Given the description of an element on the screen output the (x, y) to click on. 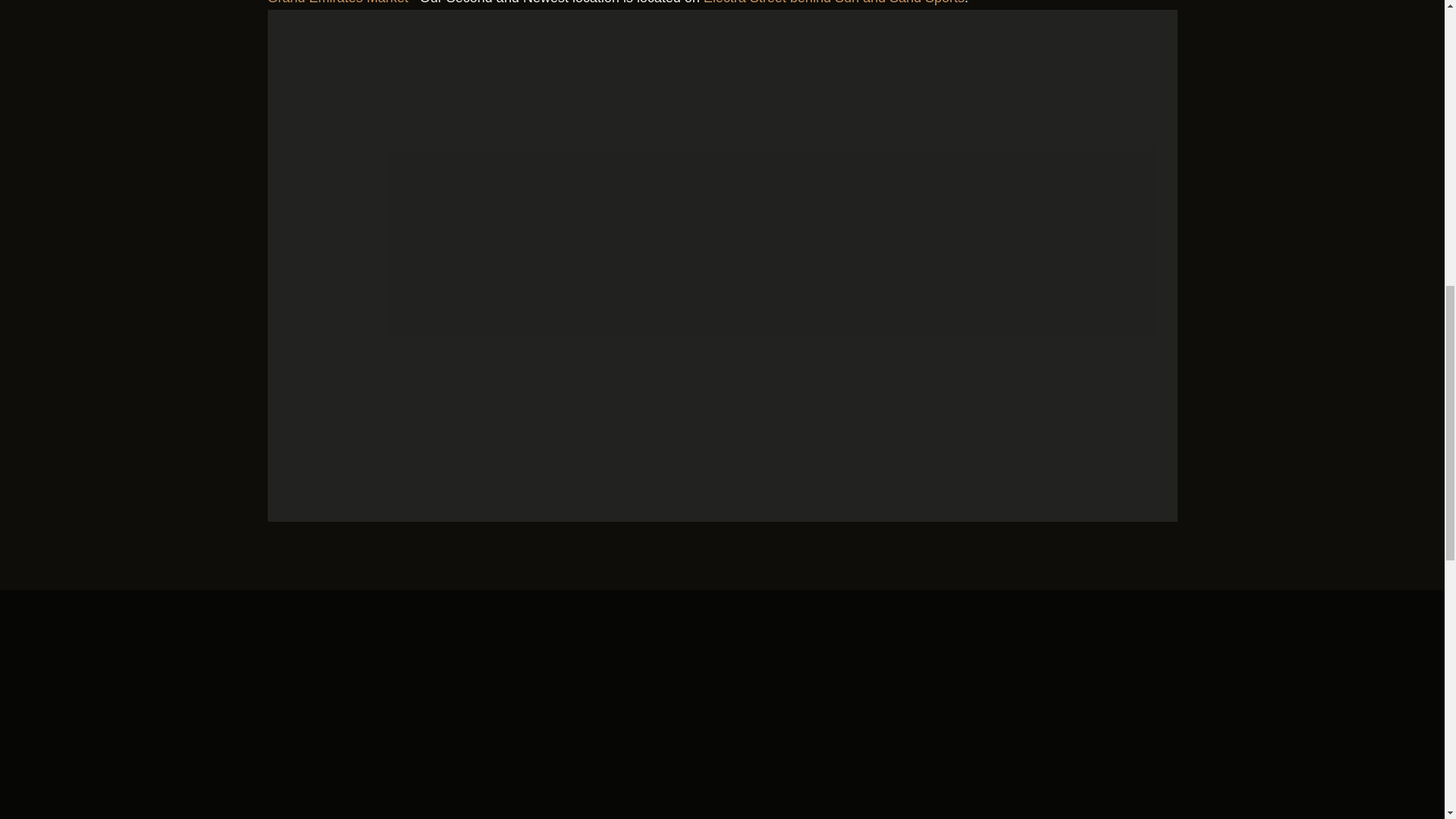
Electra Street behind Sun and Sand Sports (833, 2)
